Given the description of an element on the screen output the (x, y) to click on. 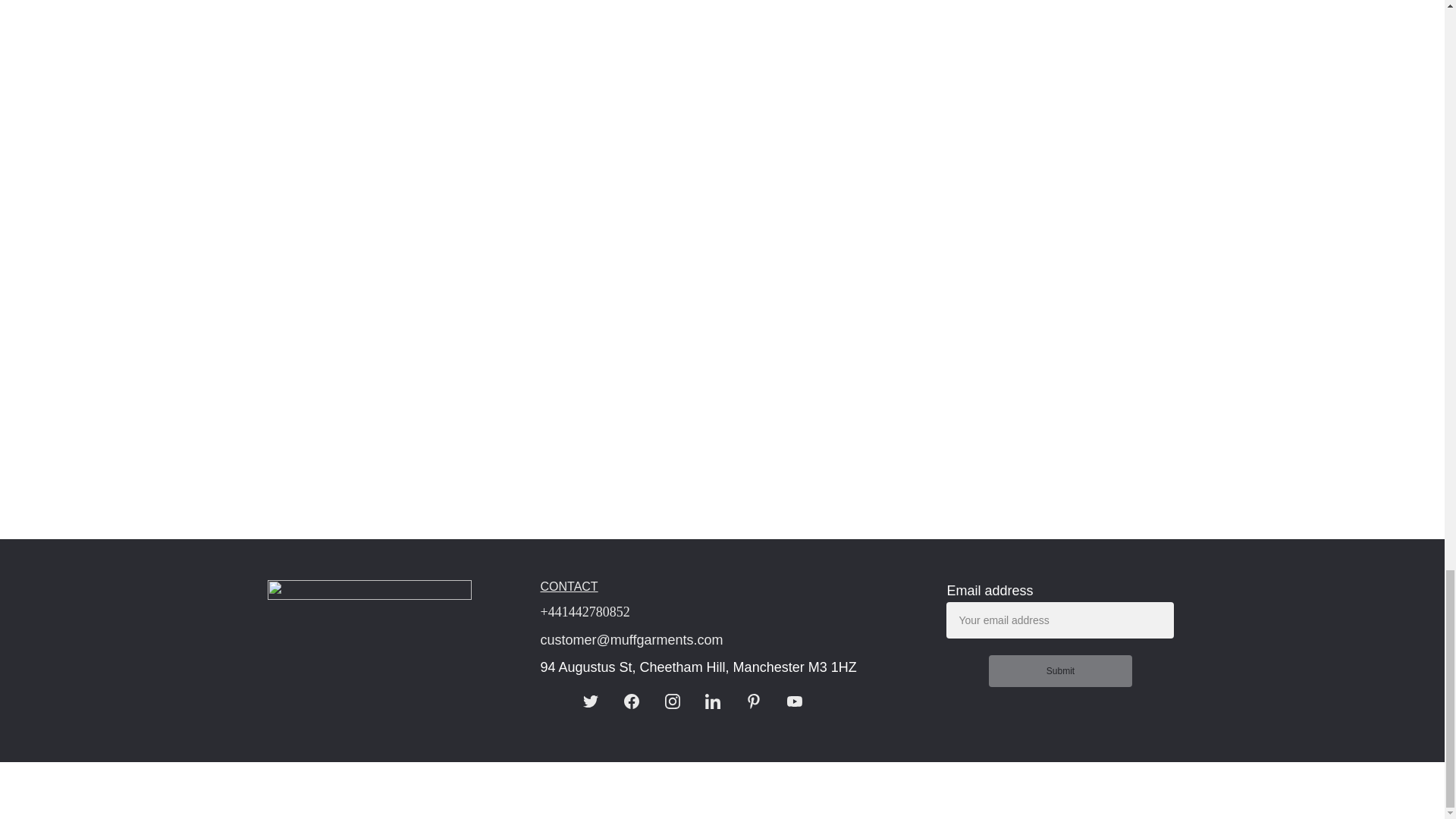
Go to Youtube page (794, 701)
CONTACT (568, 585)
Go to Instagram page (672, 701)
Go to Pinterest-p page (753, 701)
Go to Facebook page (631, 701)
Go to Twitter page (590, 701)
Go to Linkedin-in page (712, 701)
Submit (1060, 671)
